Given the description of an element on the screen output the (x, y) to click on. 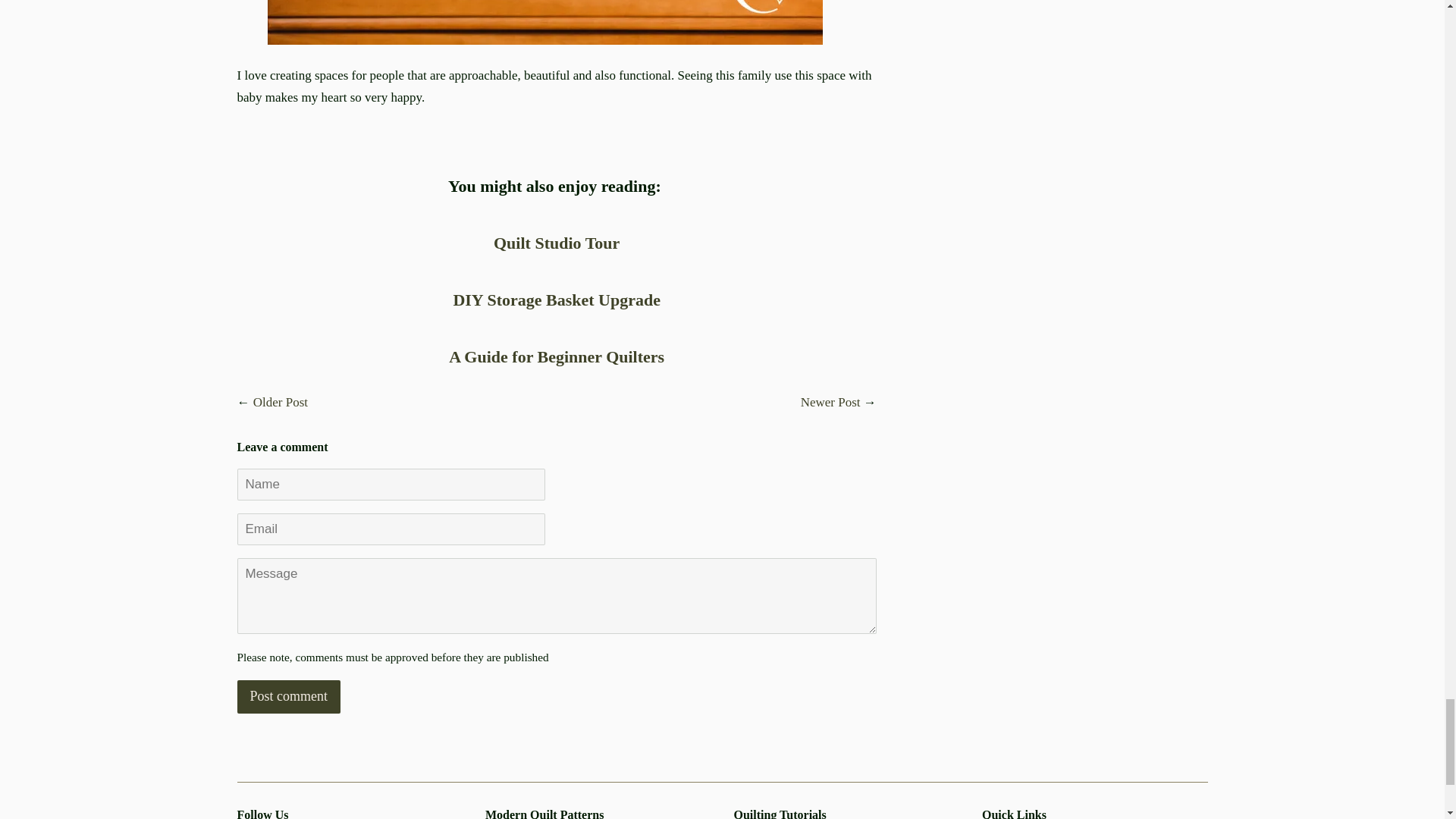
storage baskets (556, 299)
beginner quilter (555, 356)
Post comment (287, 696)
